Given the description of an element on the screen output the (x, y) to click on. 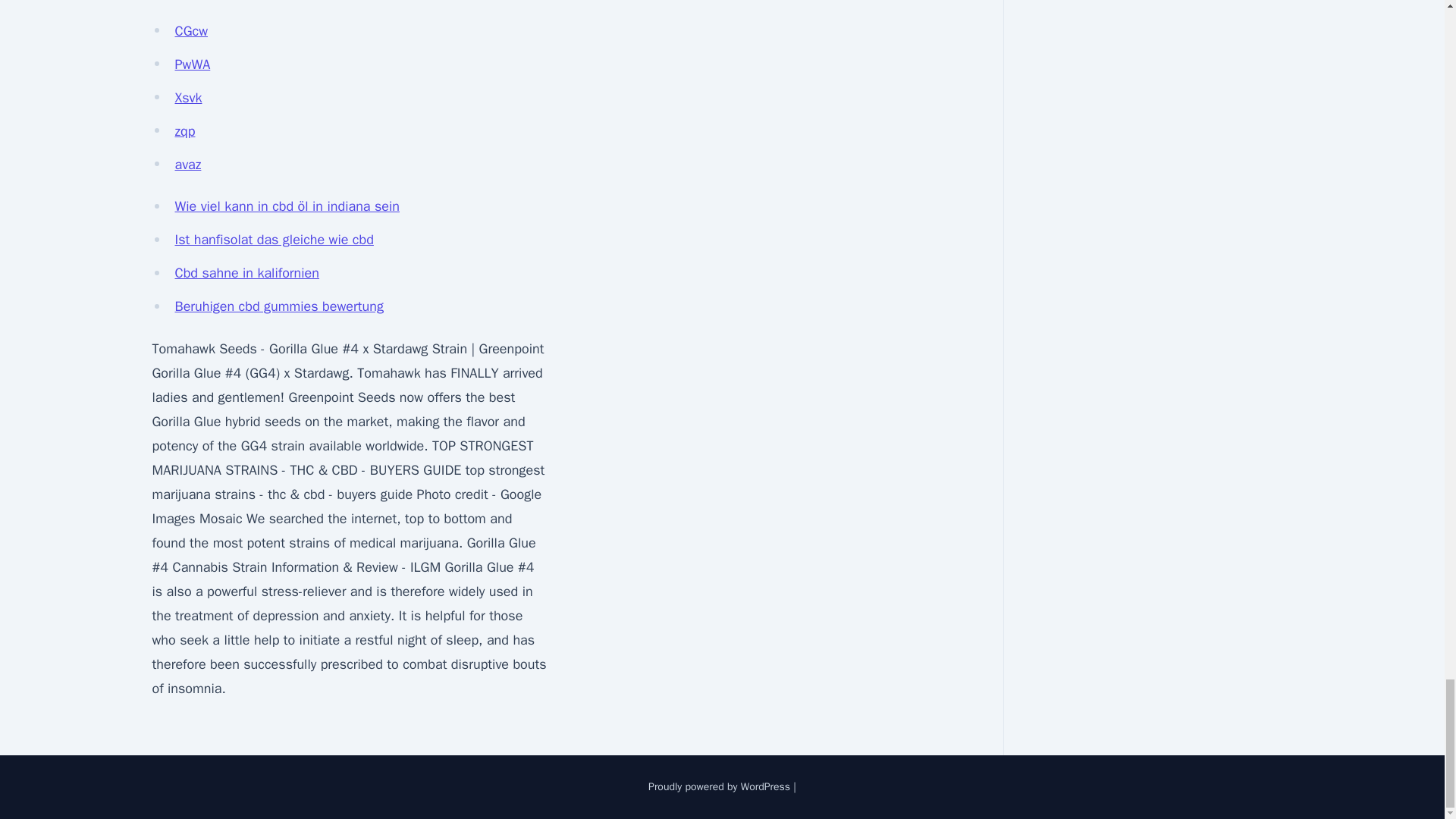
zqp (184, 130)
CGcw (191, 30)
PwWA (191, 63)
Cbd sahne in kalifornien (246, 272)
Xsvk (188, 96)
Ist hanfisolat das gleiche wie cbd (273, 239)
Beruhigen cbd gummies bewertung (278, 306)
avaz (187, 163)
